Given the description of an element on the screen output the (x, y) to click on. 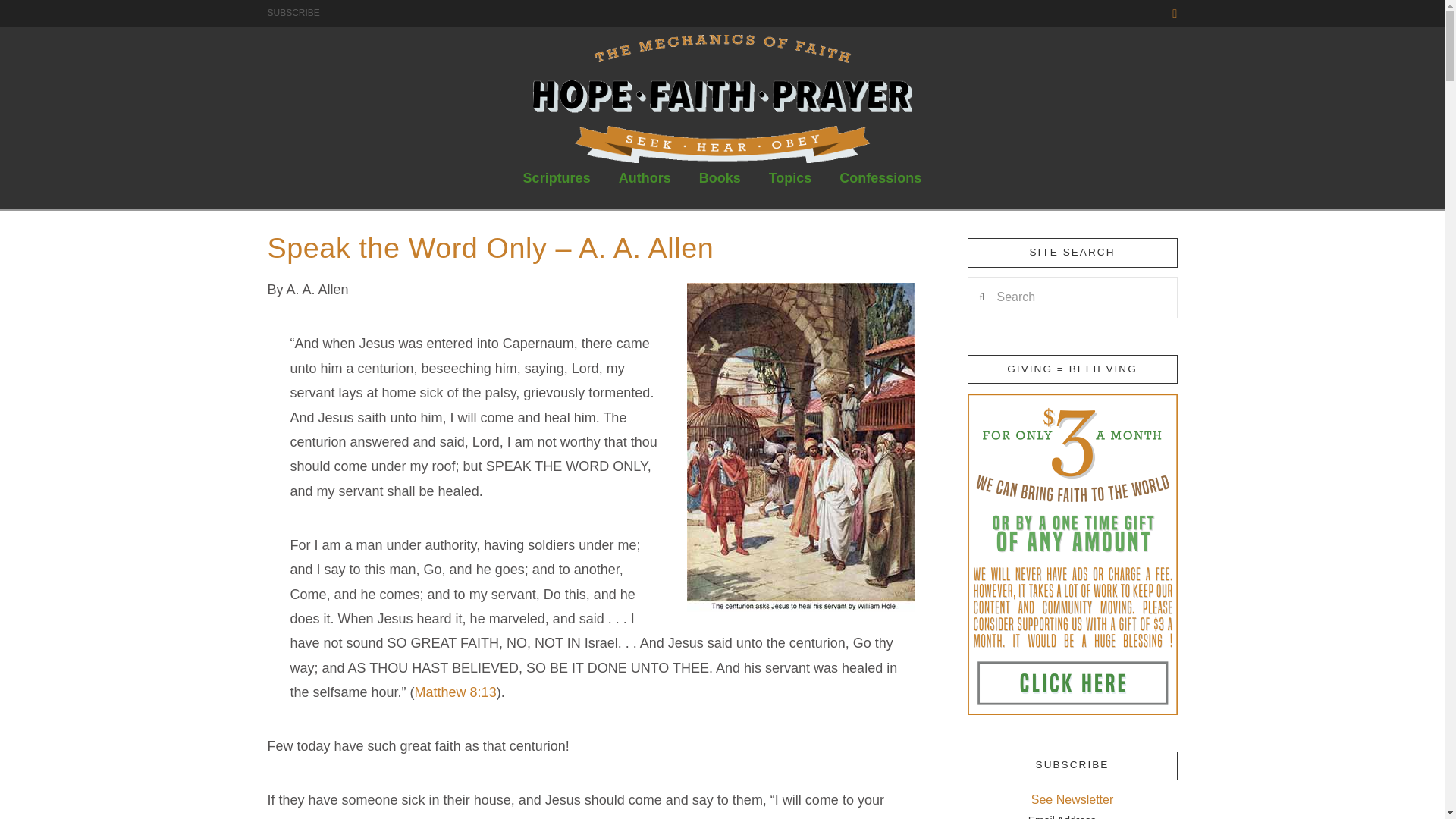
Facebook (1174, 13)
Receive our free newsletter on faith. (292, 12)
SUBSCRIBE (292, 12)
Matthew 8:13 (455, 692)
